Given the description of an element on the screen output the (x, y) to click on. 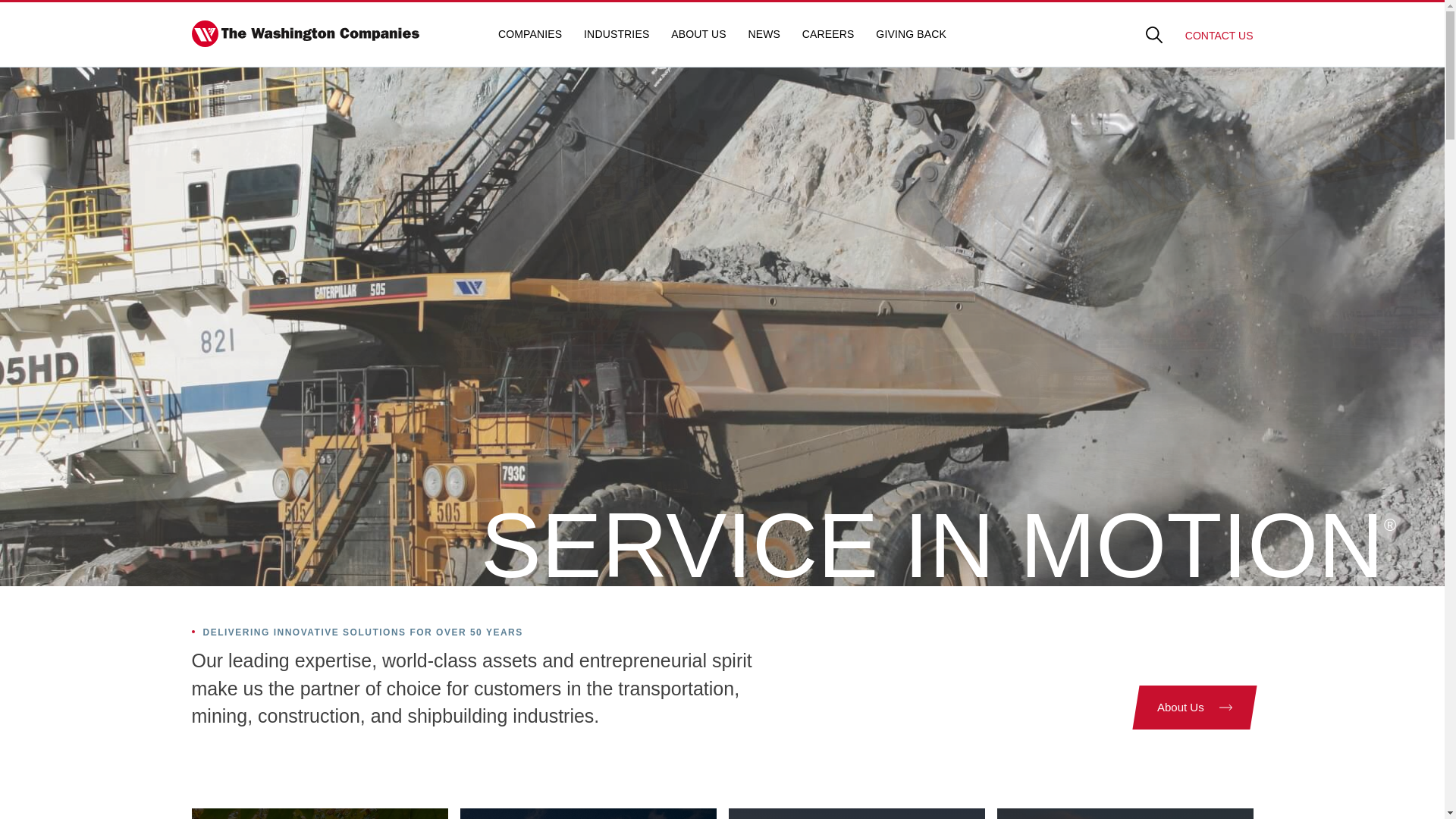
INDUSTRIES (616, 34)
ABOUT US (698, 34)
CAREERS (828, 34)
NEWS (764, 34)
About Us (1190, 708)
CONTACT US (1219, 34)
GIVING BACK (911, 34)
COMPANIES (529, 34)
